Given the description of an element on the screen output the (x, y) to click on. 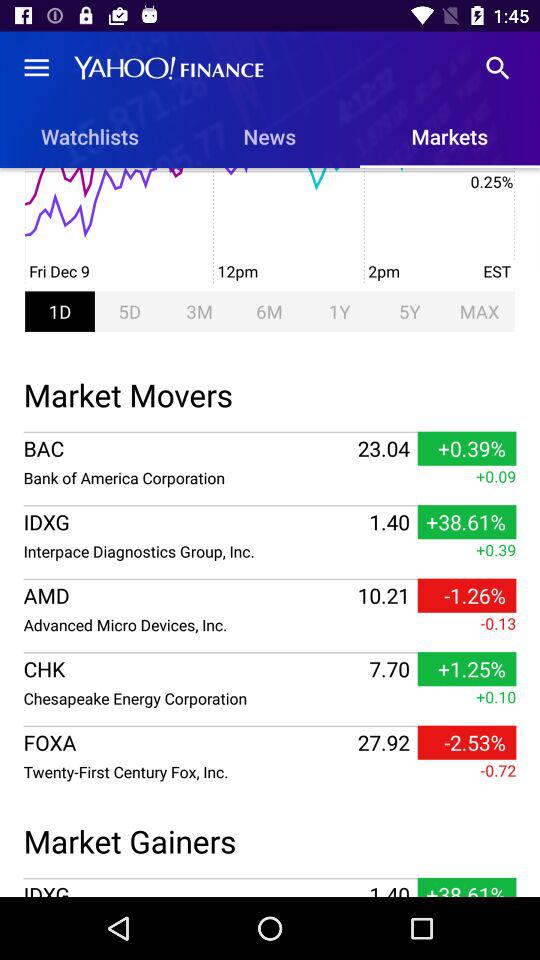
press the item below +0.10 icon (466, 742)
